Given the description of an element on the screen output the (x, y) to click on. 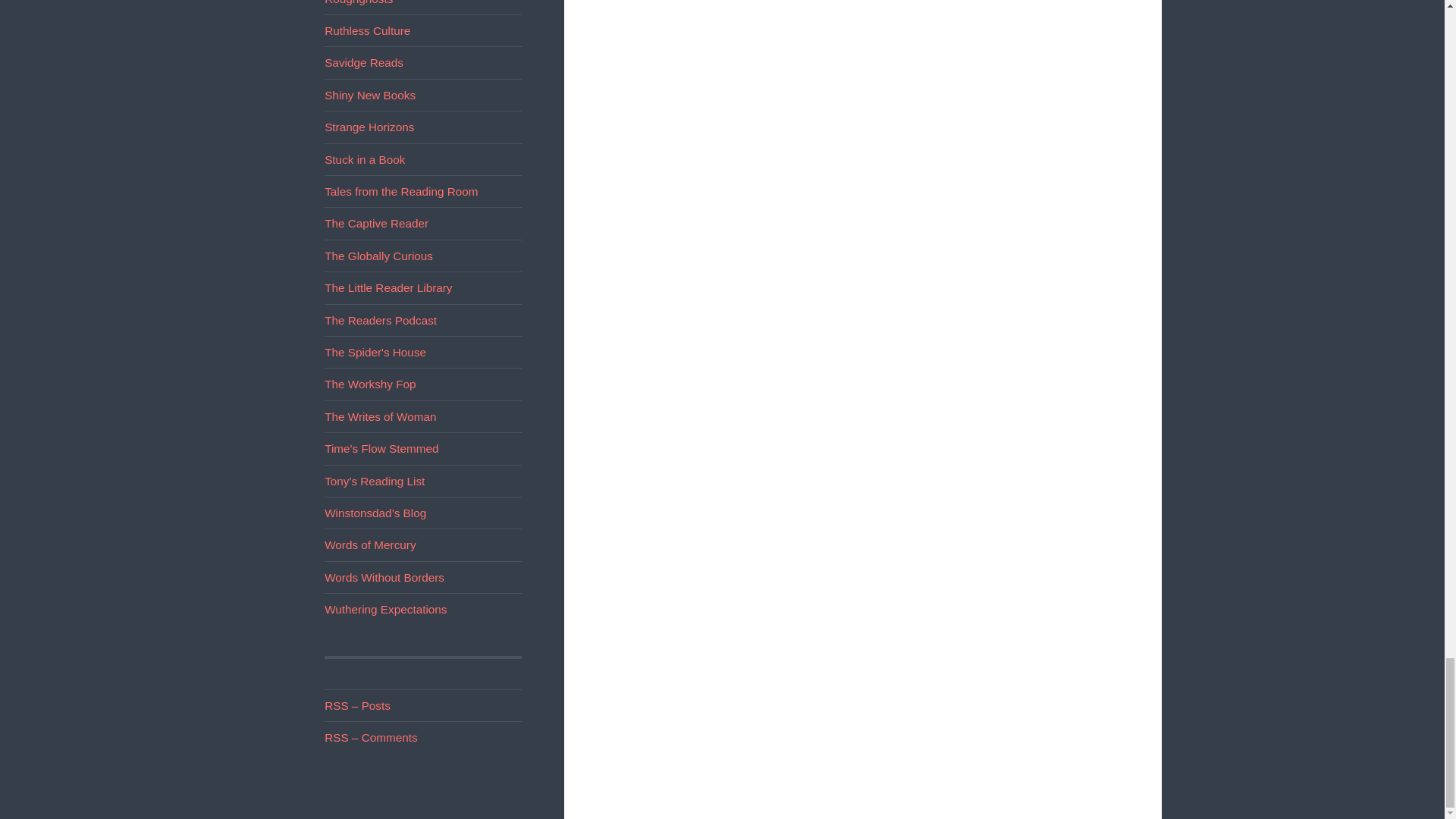
Subscribe to comments (370, 737)
Subscribe to posts (357, 705)
